Given the description of an element on the screen output the (x, y) to click on. 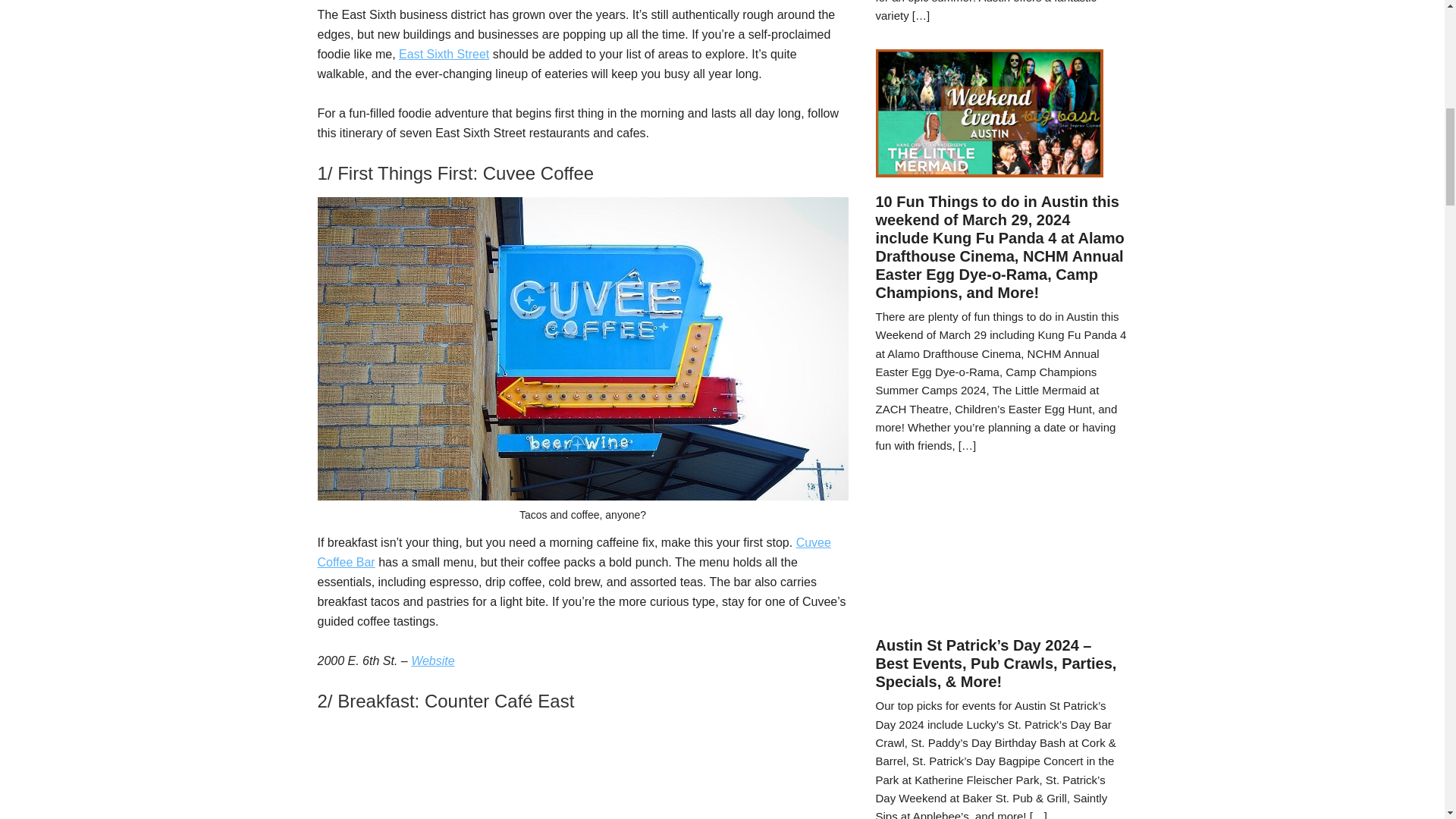
East Sixth Street (443, 53)
Cuvee Coffee Bar (573, 552)
Website (432, 660)
